Given the description of an element on the screen output the (x, y) to click on. 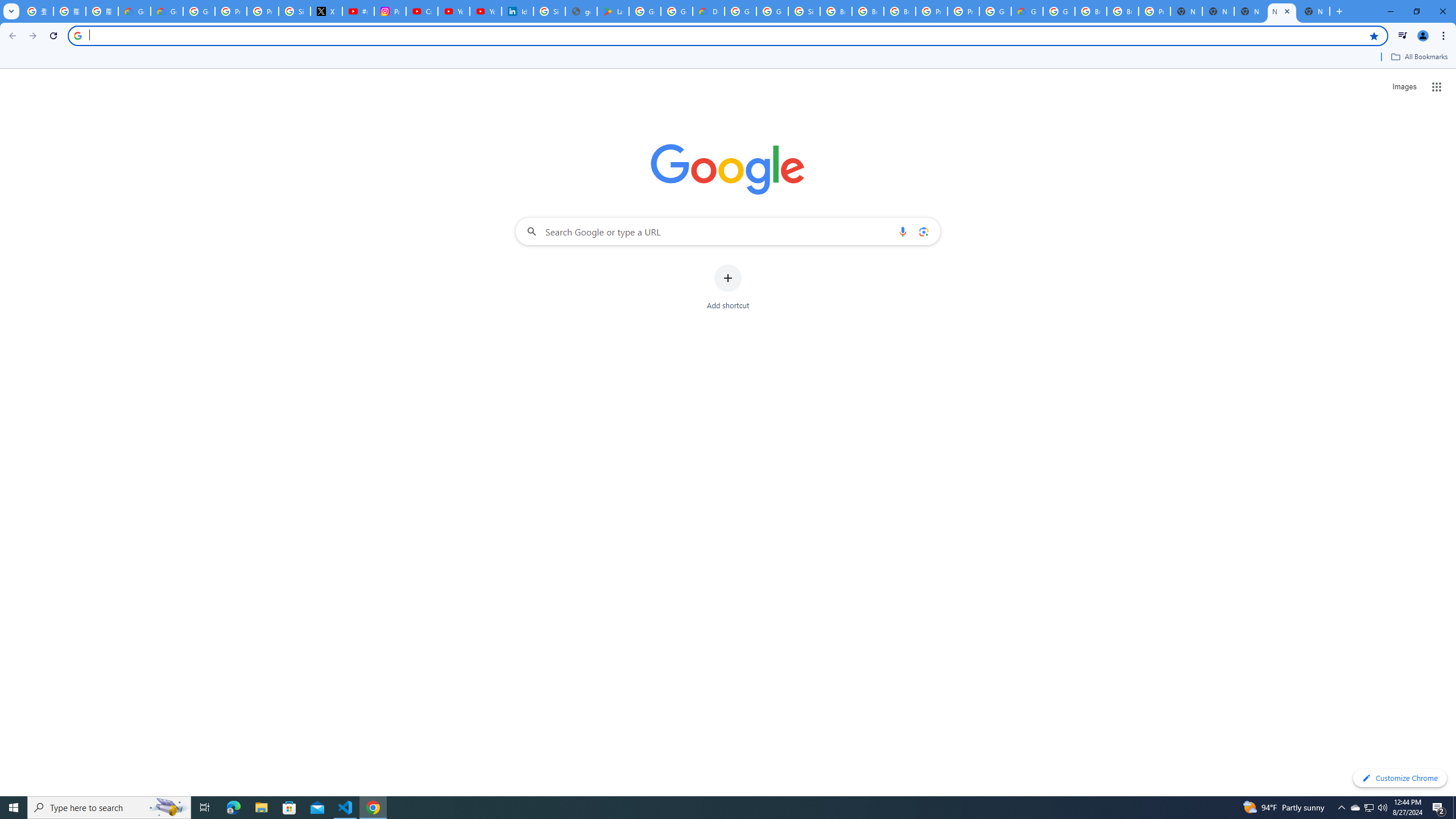
Google Cloud Platform (995, 11)
All Bookmarks (1418, 56)
Google Cloud Privacy Notice (166, 11)
Google Cloud Platform (740, 11)
Search for Images  (1403, 87)
#nbabasketballhighlights - YouTube (358, 11)
Search by image (922, 230)
Search Google or type a URL (727, 230)
Last Shelter: Survival - Apps on Google Play (613, 11)
